Given the description of an element on the screen output the (x, y) to click on. 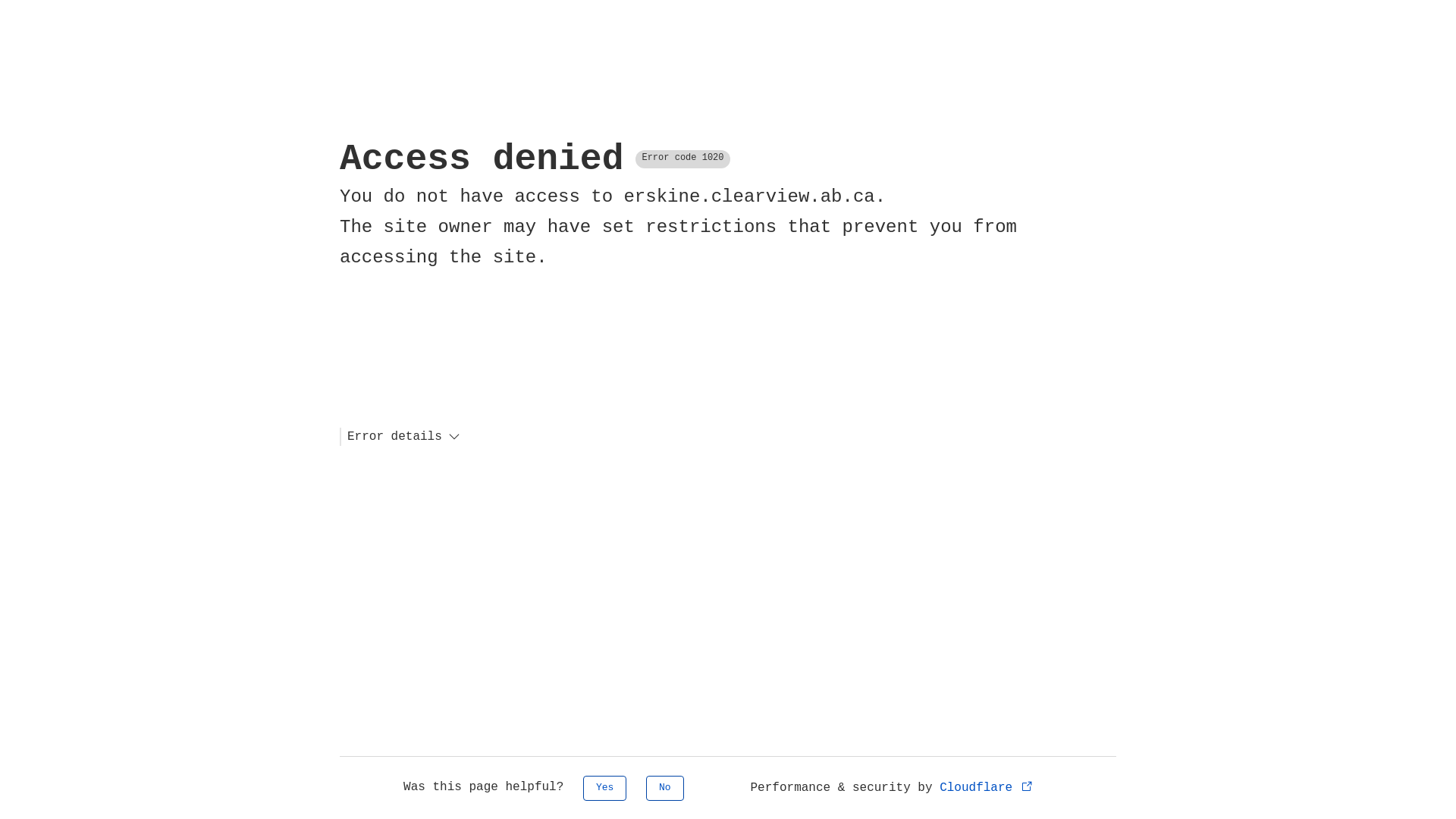
Yes Element type: text (604, 787)
Opens in new tab Element type: hover (1027, 785)
Cloudflare Element type: text (986, 787)
No Element type: text (665, 787)
